Given the description of an element on the screen output the (x, y) to click on. 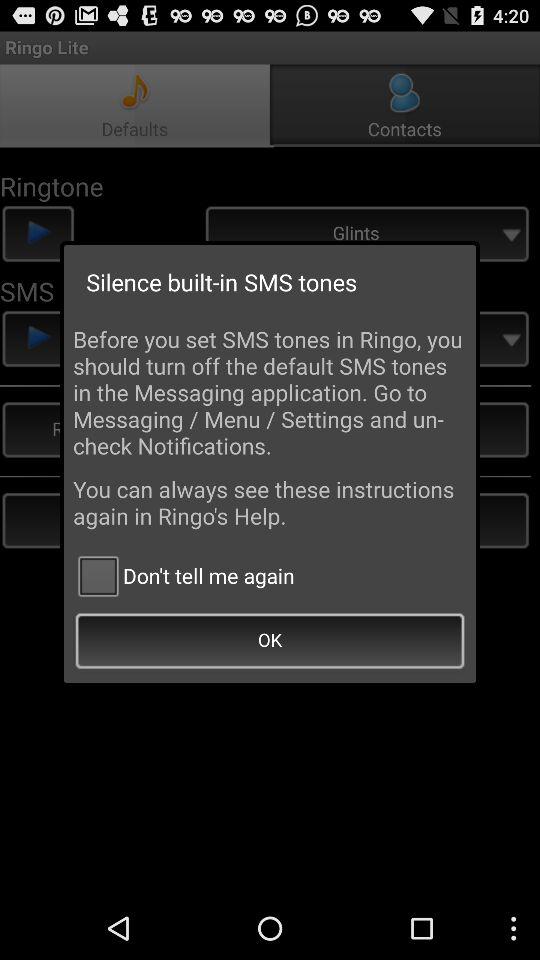
press the don t tell item (183, 575)
